Given the description of an element on the screen output the (x, y) to click on. 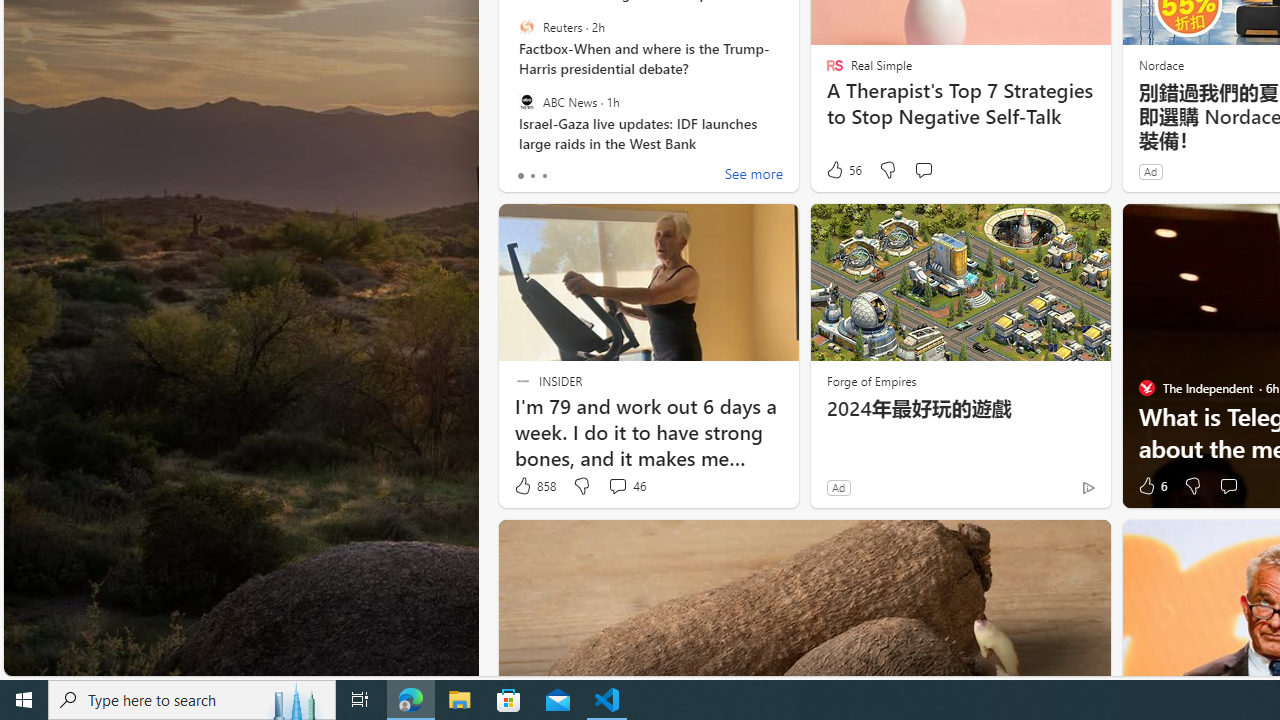
ABC News (526, 101)
View comments 46 Comment (617, 485)
Forge of Empires (870, 380)
tab-1 (532, 175)
858 Like (534, 485)
tab-2 (543, 175)
